Given the description of an element on the screen output the (x, y) to click on. 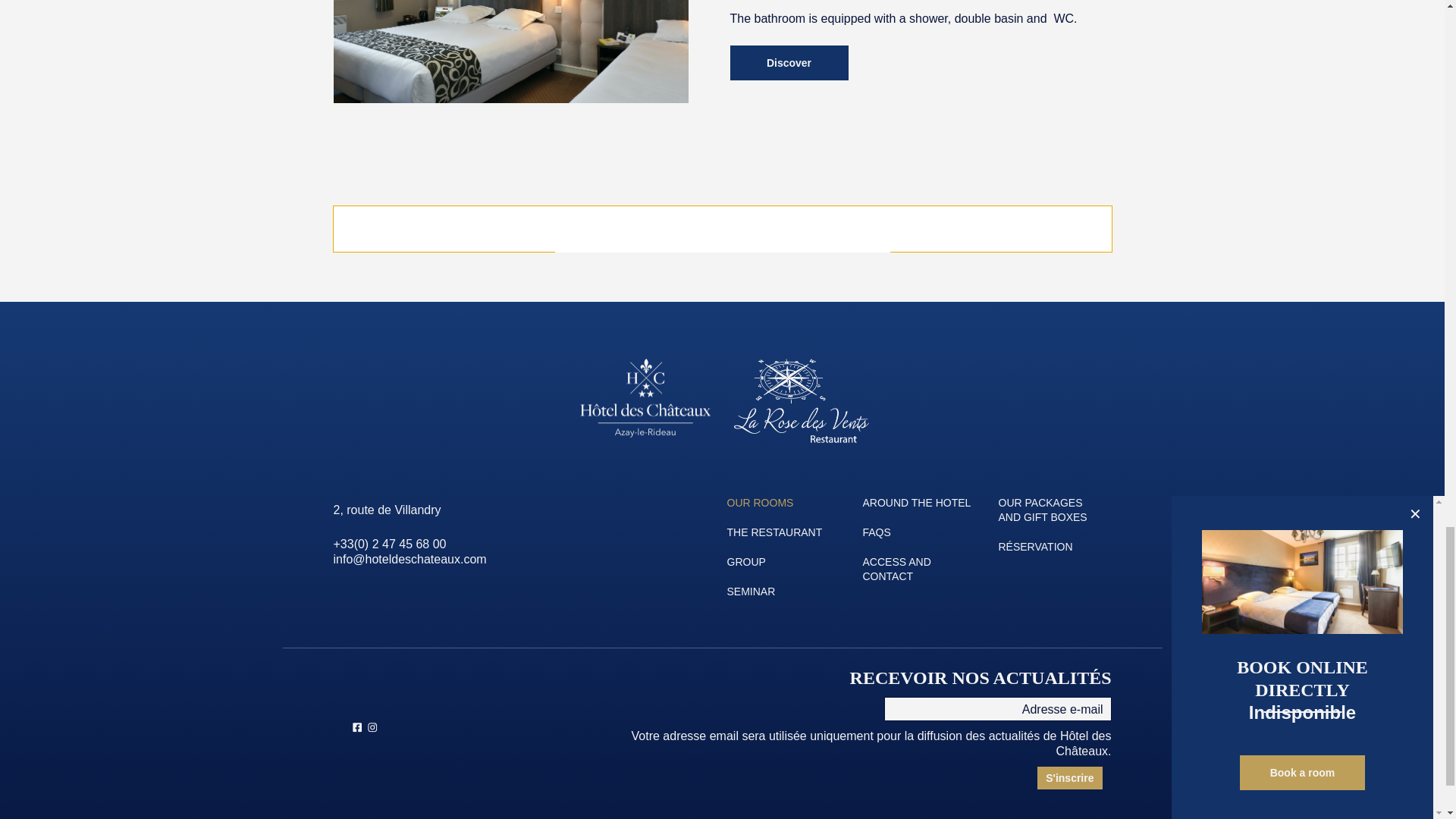
ACCESS AND CONTACT (897, 569)
FAQS (877, 532)
S'inscrire (1069, 777)
GROUP (745, 562)
Discover (788, 62)
AROUND THE HOTEL (917, 502)
SEMINAR (1041, 509)
THE RESTAURANT (750, 591)
